Given the description of an element on the screen output the (x, y) to click on. 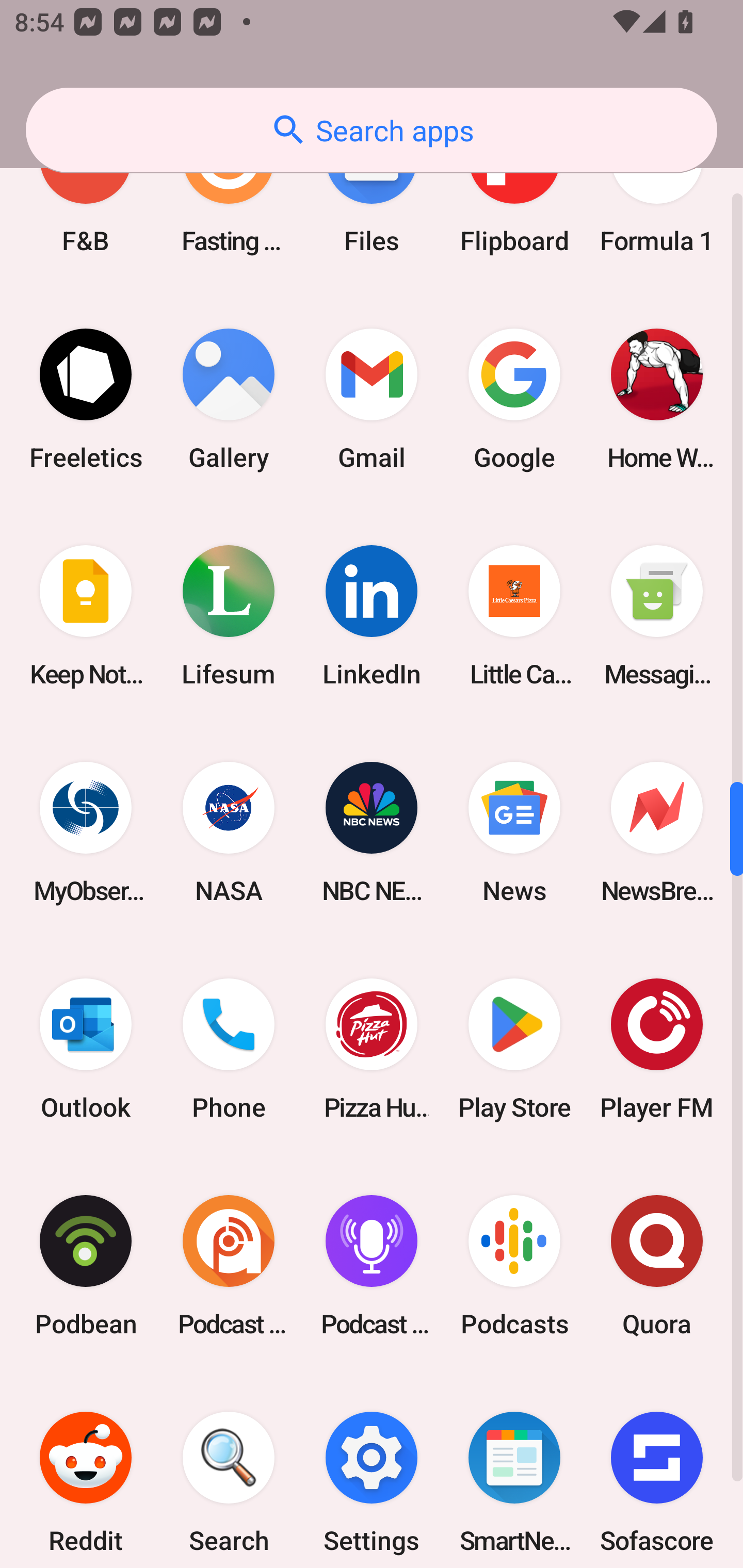
  Search apps (371, 130)
F&B (85, 197)
Fasting Coach (228, 197)
Files (371, 197)
Flipboard (514, 197)
Formula 1 (656, 197)
Freeletics (85, 399)
Gallery (228, 399)
Gmail (371, 399)
Google (514, 399)
Home Workout (656, 399)
Keep Notes (85, 616)
Lifesum (228, 616)
LinkedIn (371, 616)
Little Caesars Pizza (514, 616)
Messaging (656, 616)
MyObservatory (85, 832)
NASA (228, 832)
NBC NEWS (371, 832)
News (514, 832)
NewsBreak (656, 832)
Outlook (85, 1048)
Phone (228, 1048)
Pizza Hut HK & Macau (371, 1048)
Play Store (514, 1048)
Player FM (656, 1048)
Podbean (85, 1265)
Podcast Addict (228, 1265)
Podcast Player (371, 1265)
Podcasts (514, 1265)
Quora (656, 1265)
Reddit (85, 1470)
Search (228, 1470)
Settings (371, 1470)
SmartNews (514, 1470)
Sofascore (656, 1470)
